Given the description of an element on the screen output the (x, y) to click on. 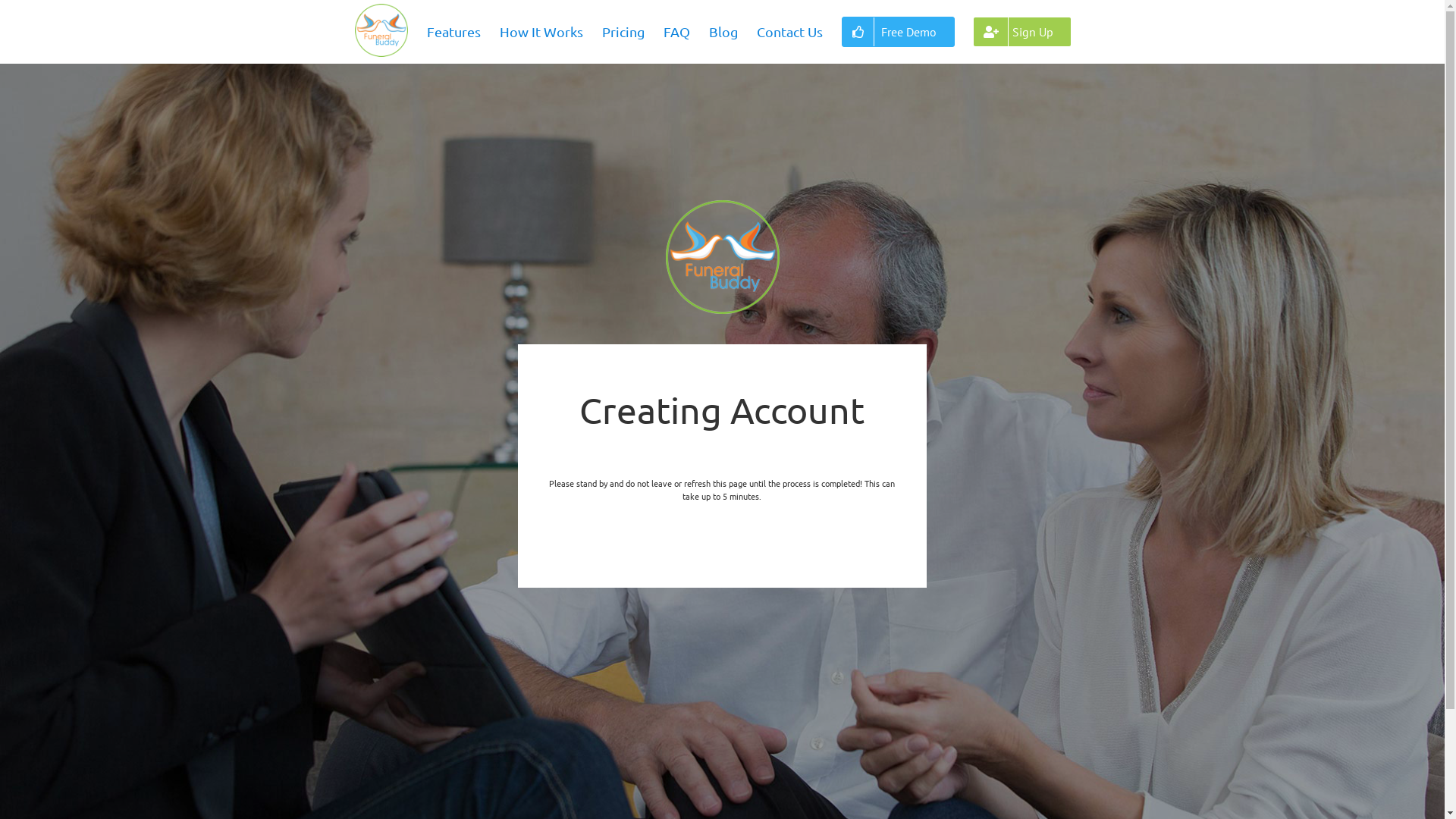
Features Element type: text (453, 31)
Pricing Element type: text (623, 31)
How It Works Element type: text (541, 31)
Contact Us Element type: text (789, 31)
Free Demo Element type: text (897, 31)
Sign Up Element type: text (1021, 31)
Blog Element type: text (723, 31)
FAQ Element type: text (676, 31)
